Given the description of an element on the screen output the (x, y) to click on. 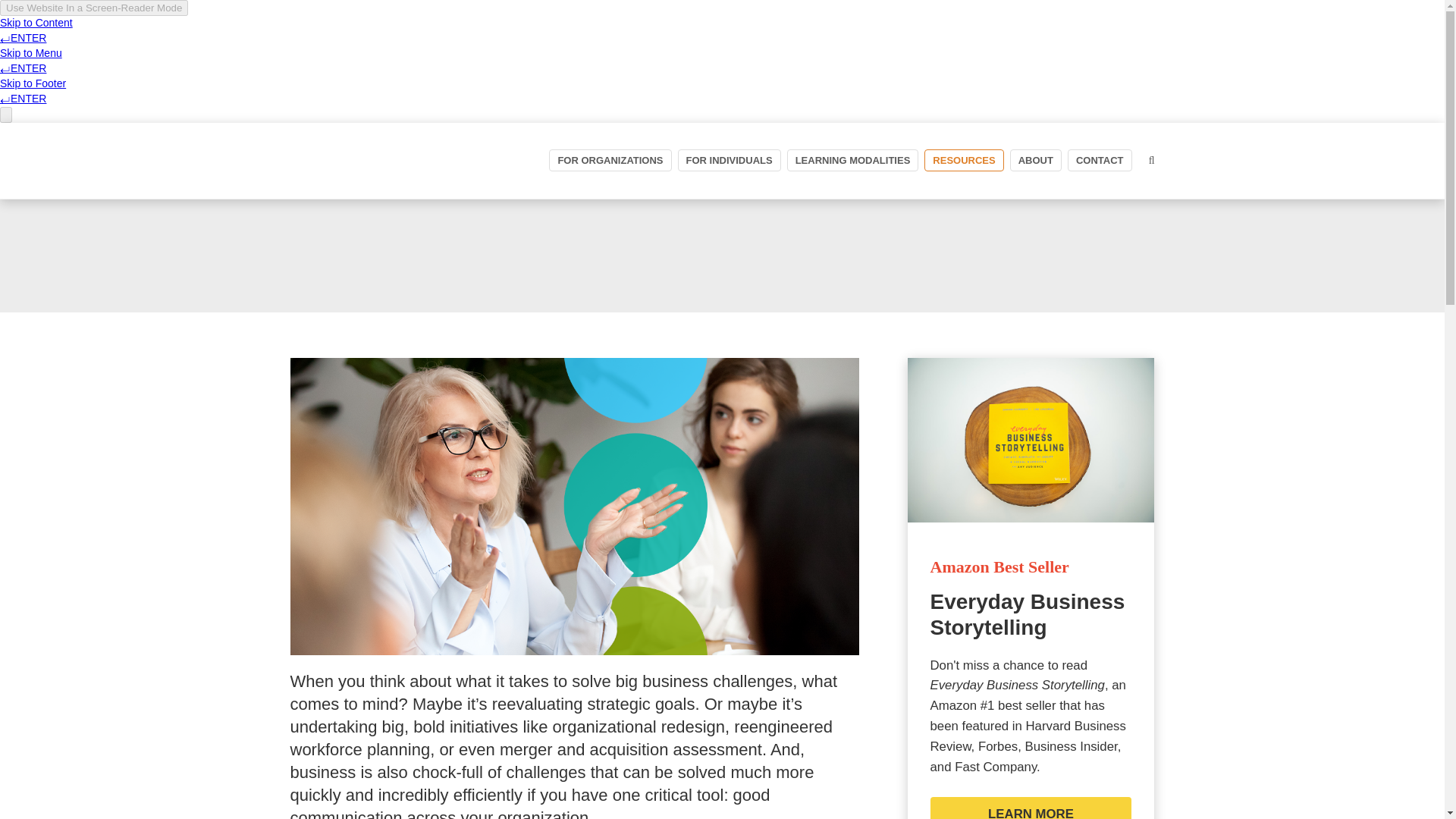
CONTACT (1099, 160)
LEARNING MODALITIES (852, 160)
FOR ORGANIZATIONS (609, 160)
ABOUT (1035, 160)
RESOURCES (963, 160)
FOR INDIVIDUALS (729, 160)
